Given the description of an element on the screen output the (x, y) to click on. 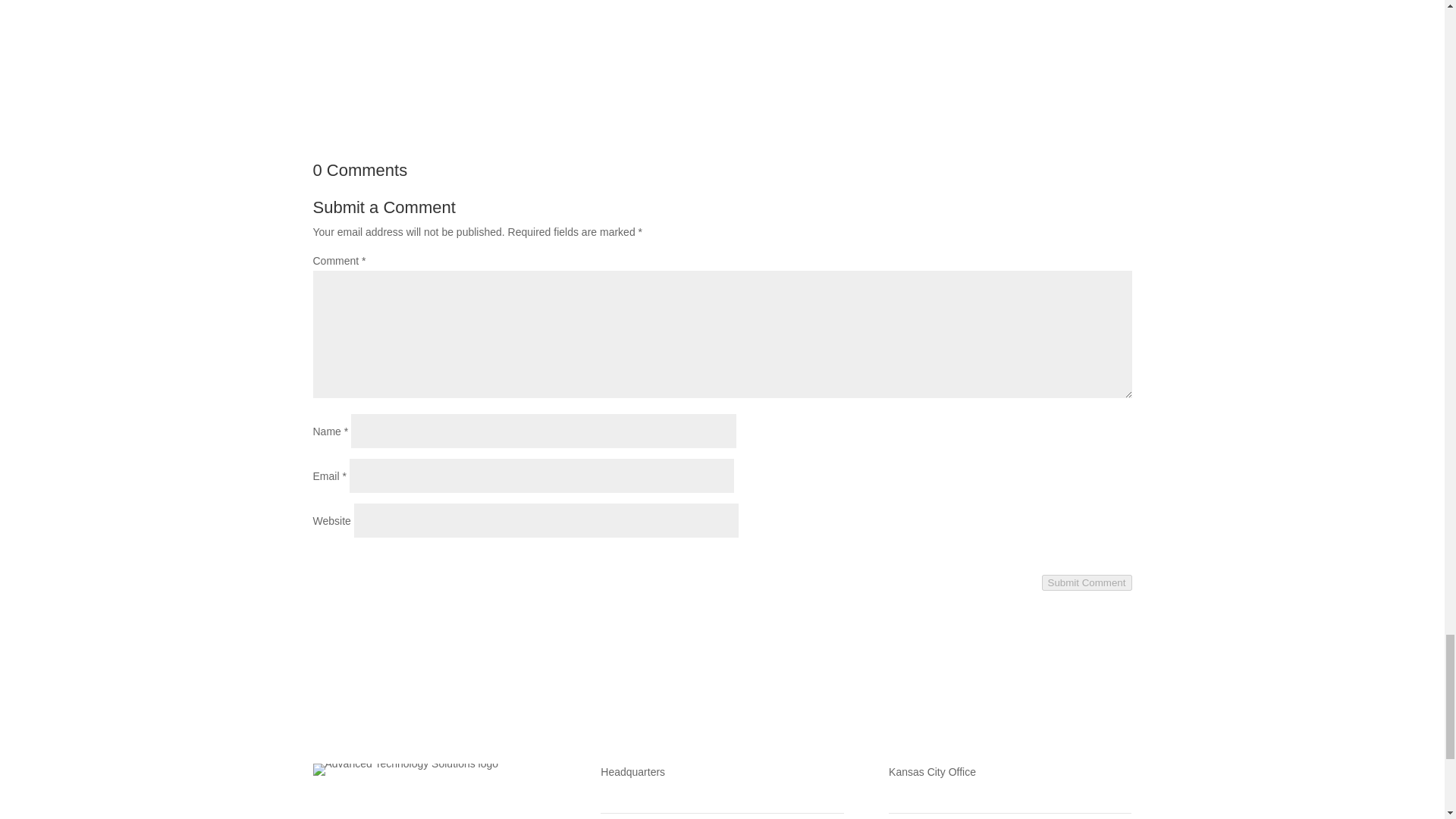
Follow on LinkedIn (384, 808)
ATS Logo (405, 769)
Follow on Facebook (324, 808)
Follow on X (354, 808)
